Given the description of an element on the screen output the (x, y) to click on. 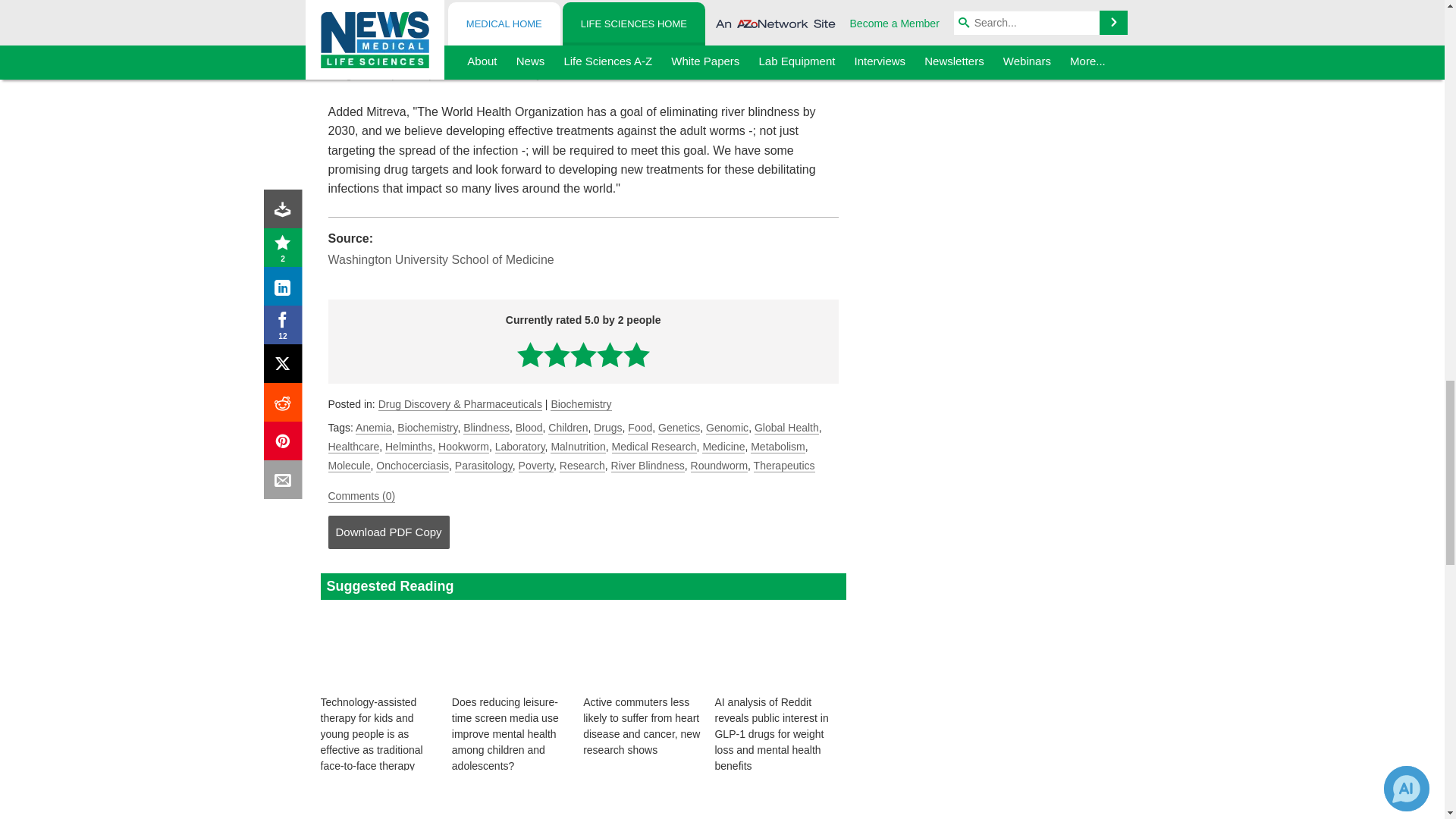
Rate this 4 stars out of 5 (609, 354)
Rate this 5 stars out of 5 (636, 354)
